Given the description of an element on the screen output the (x, y) to click on. 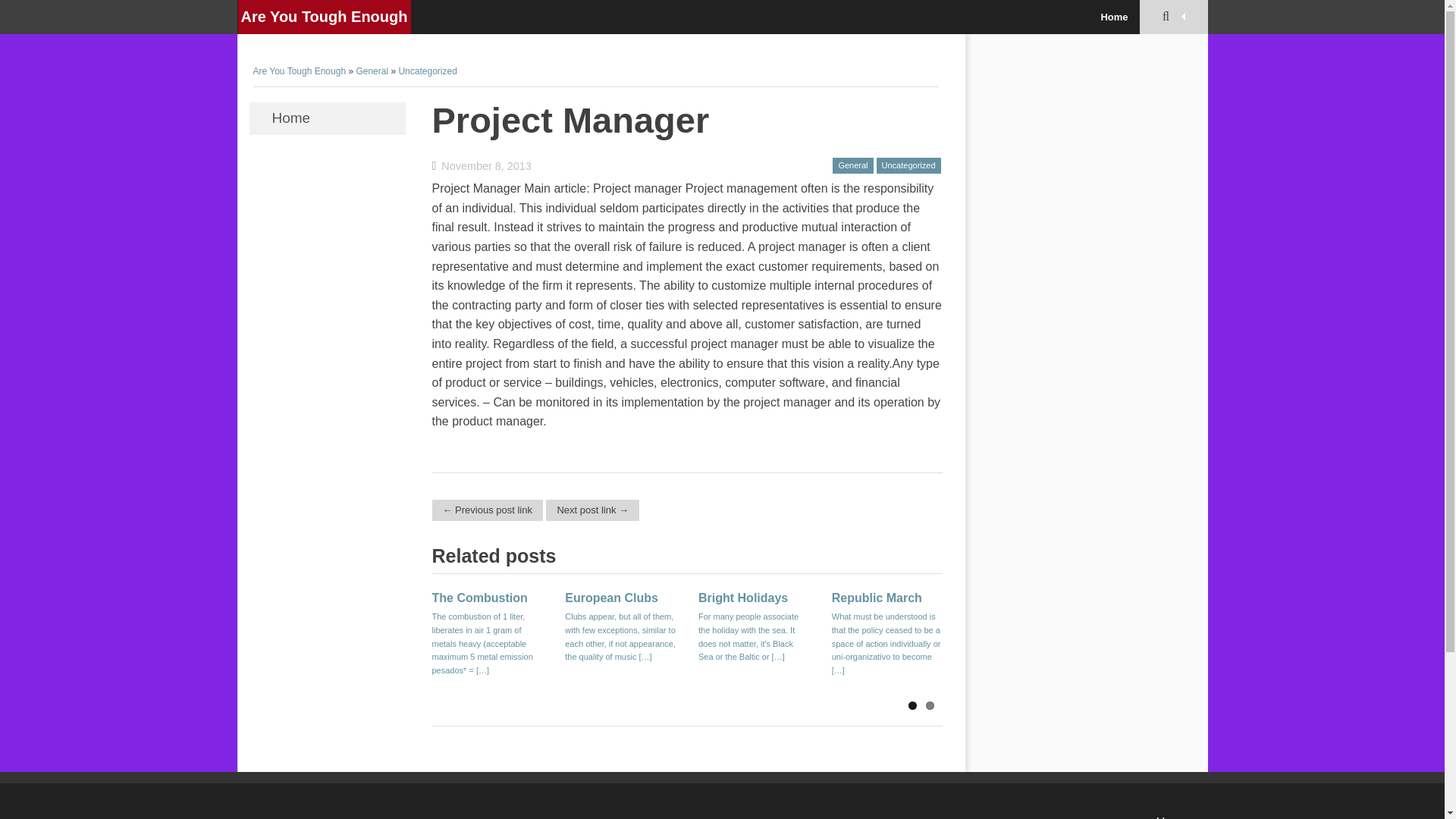
General (852, 166)
November 8, 2013 (481, 164)
Home (1113, 17)
2 (928, 705)
1 (912, 705)
Republic March (876, 597)
Are You Tough Enough (299, 71)
Home (1172, 817)
Skip to content (288, 112)
Home (326, 117)
Are You Tough Enough (324, 17)
Go to: Shtokman Project (592, 509)
European Clubs (611, 597)
7:57 am (481, 164)
Uncategorized (908, 166)
